Given the description of an element on the screen output the (x, y) to click on. 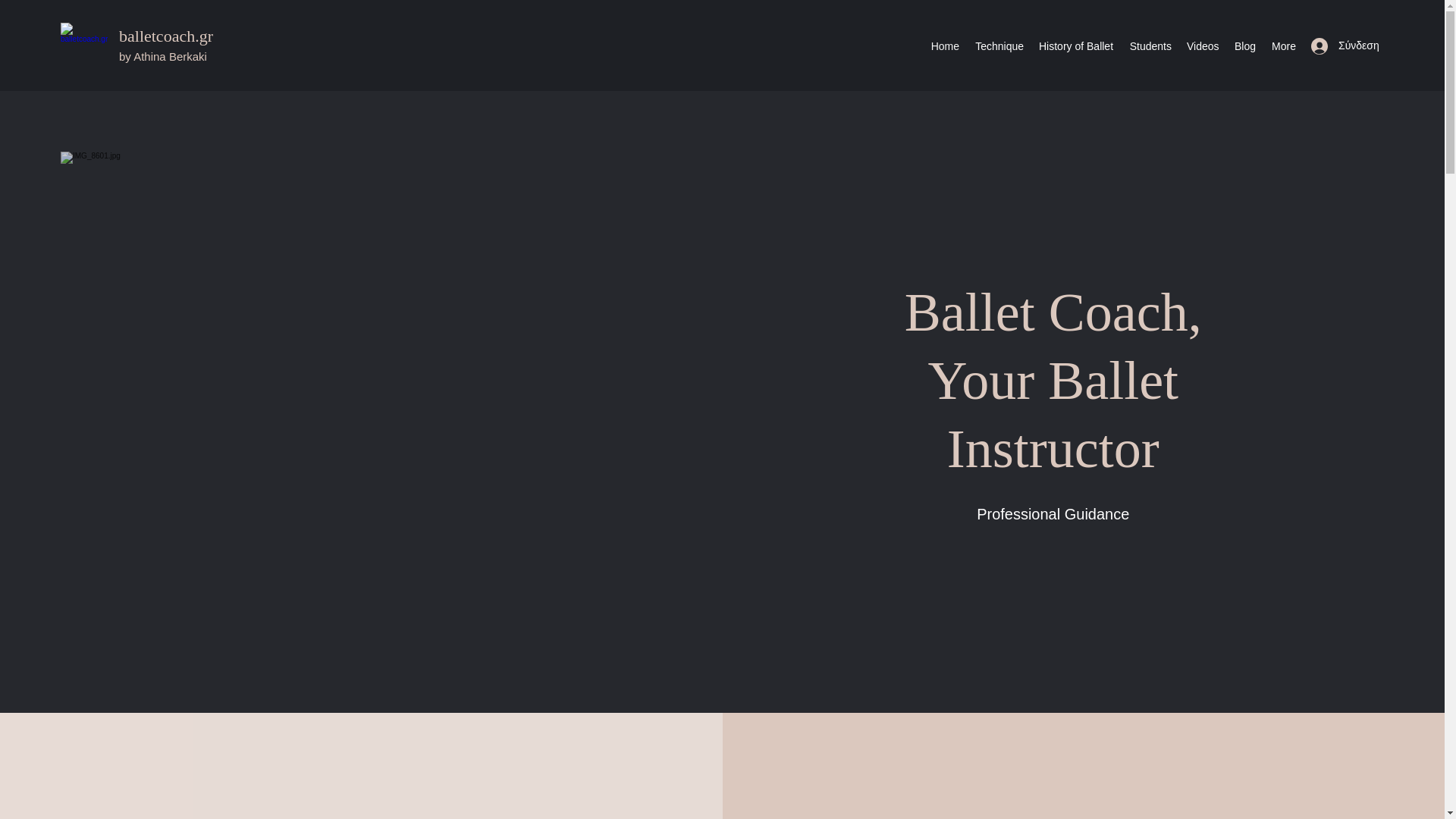
balletcoach.gr (165, 35)
Home (944, 46)
Technique (998, 46)
Students (1150, 46)
Blog (1244, 46)
History of Ballet (1075, 46)
Videos (1202, 46)
